Given the description of an element on the screen output the (x, y) to click on. 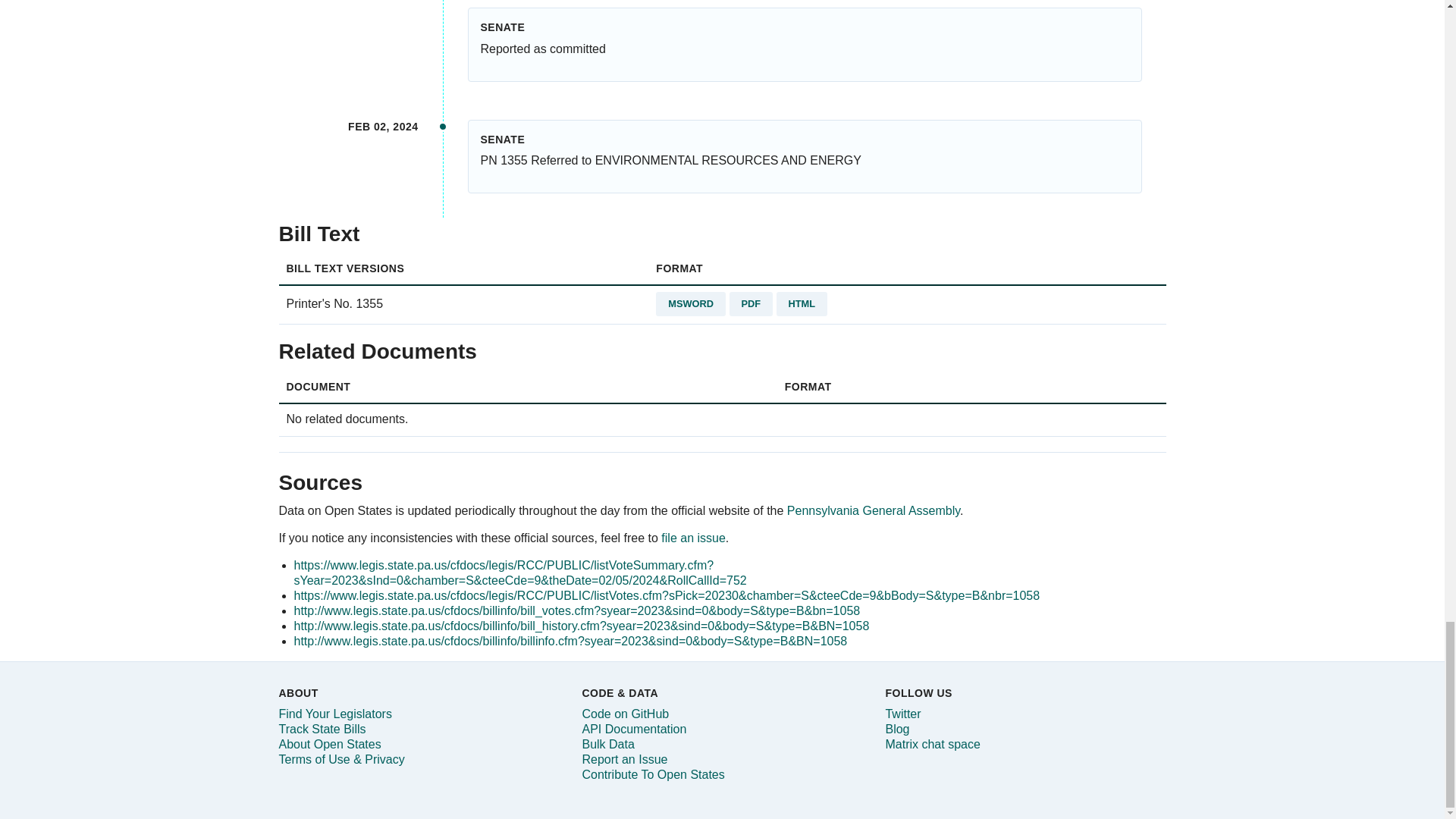
PDF (751, 303)
HTML (802, 303)
MSWORD (690, 303)
